Given the description of an element on the screen output the (x, y) to click on. 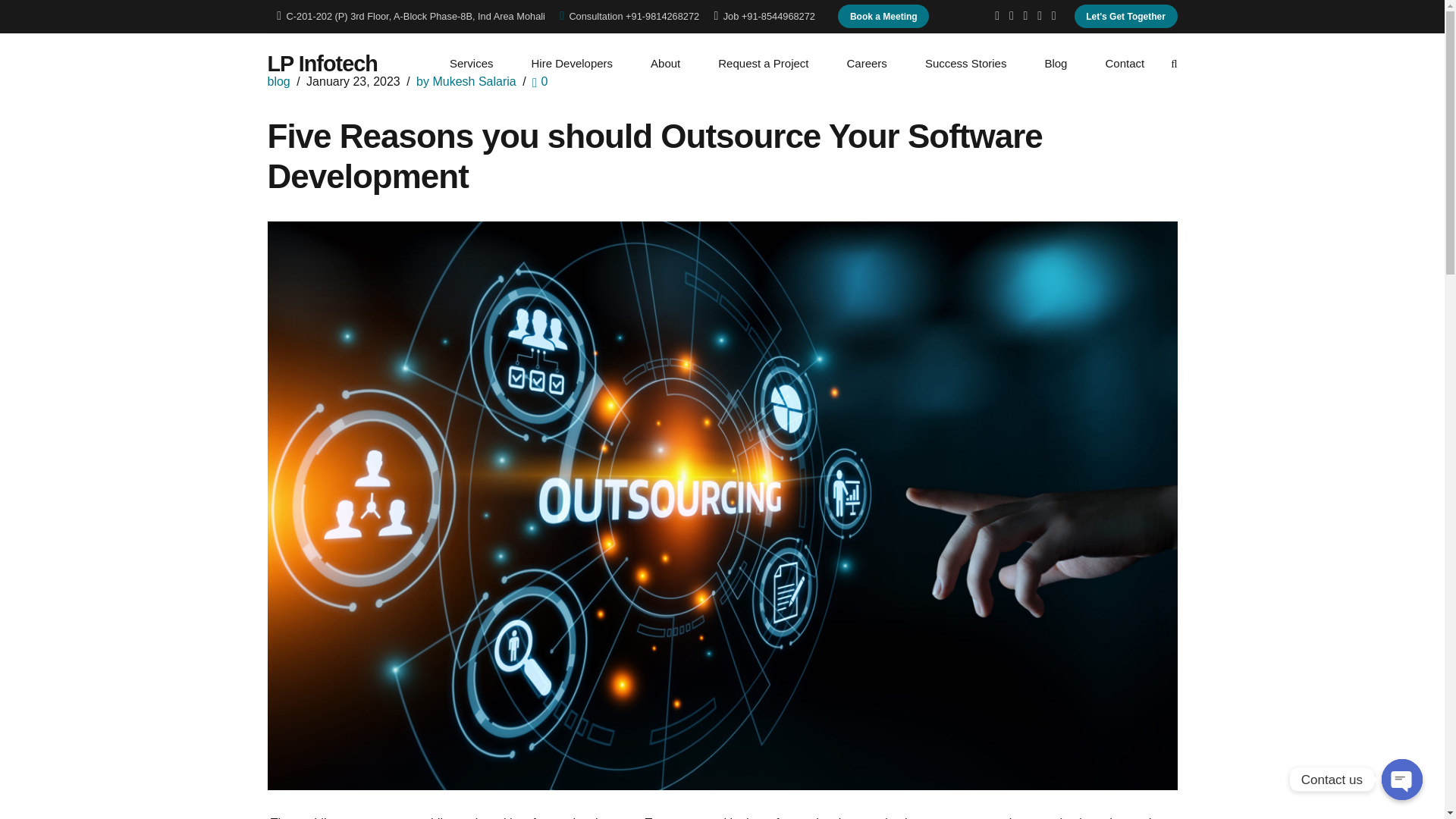
LP Infotech (321, 63)
Services (470, 63)
Hire Developers (572, 63)
Book a Meeting (883, 15)
Let's Get Together (1125, 15)
